Given the description of an element on the screen output the (x, y) to click on. 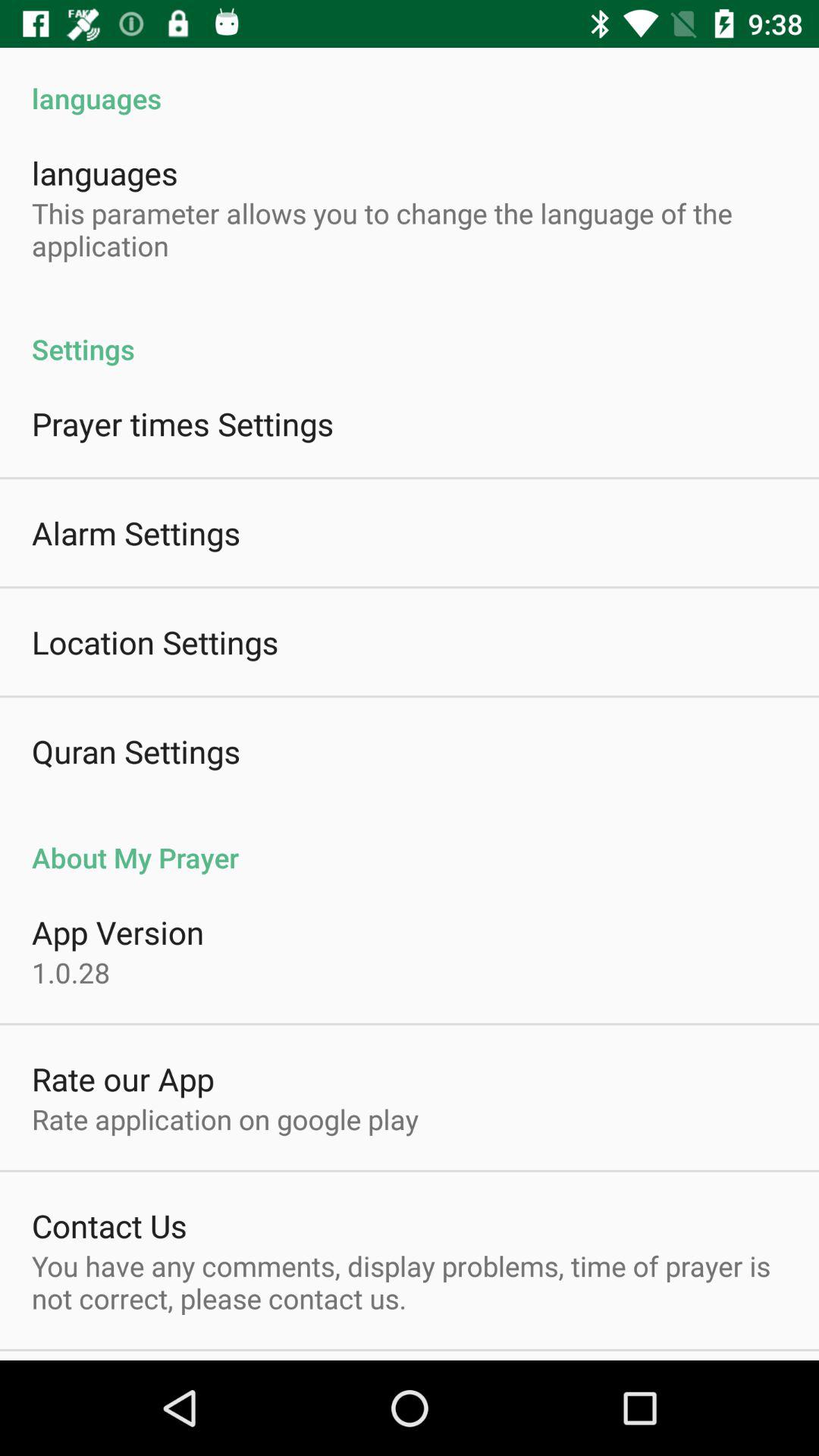
turn off app above app version app (409, 841)
